Given the description of an element on the screen output the (x, y) to click on. 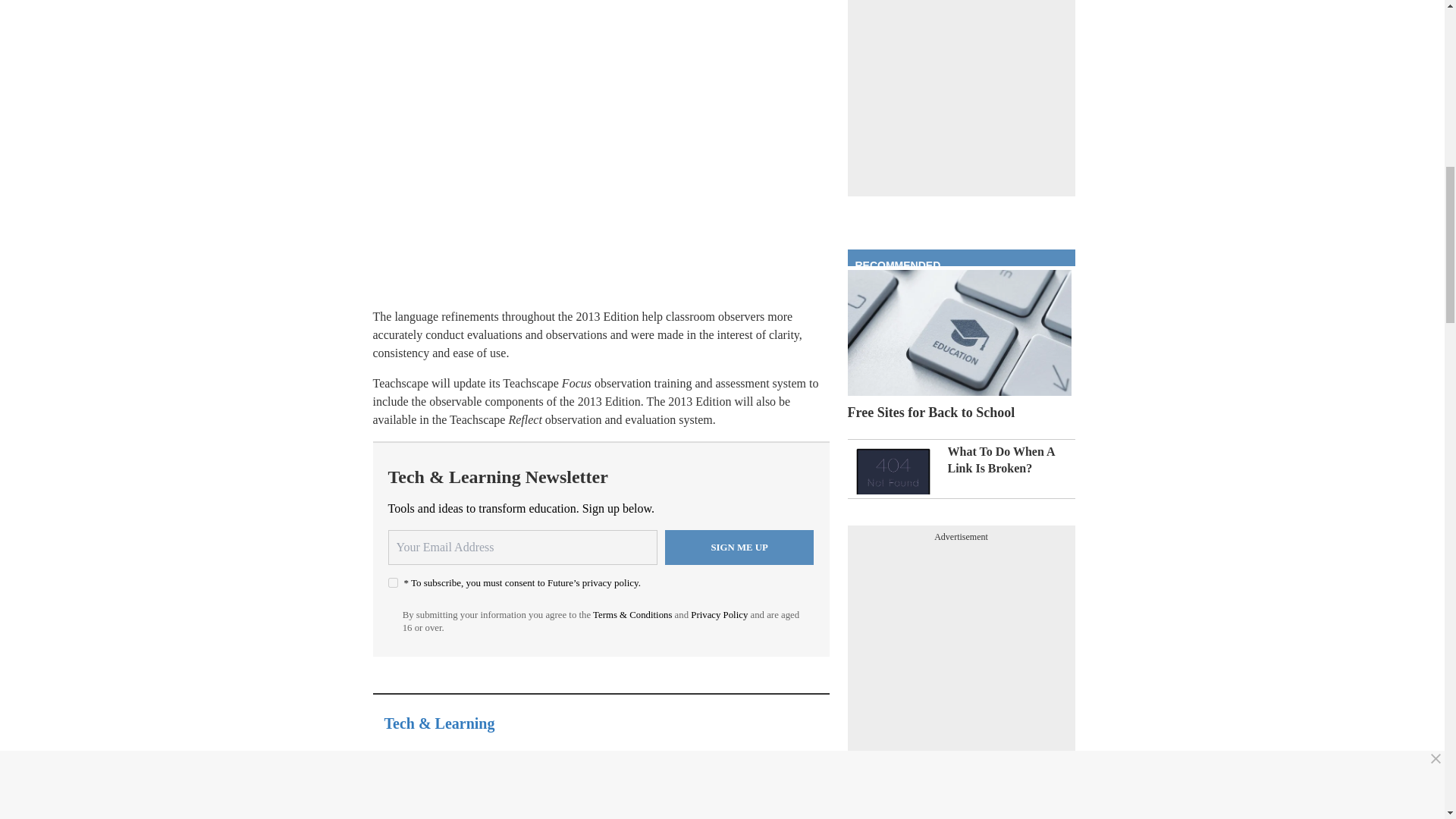
Sign me up (739, 547)
on (392, 583)
